Given the description of an element on the screen output the (x, y) to click on. 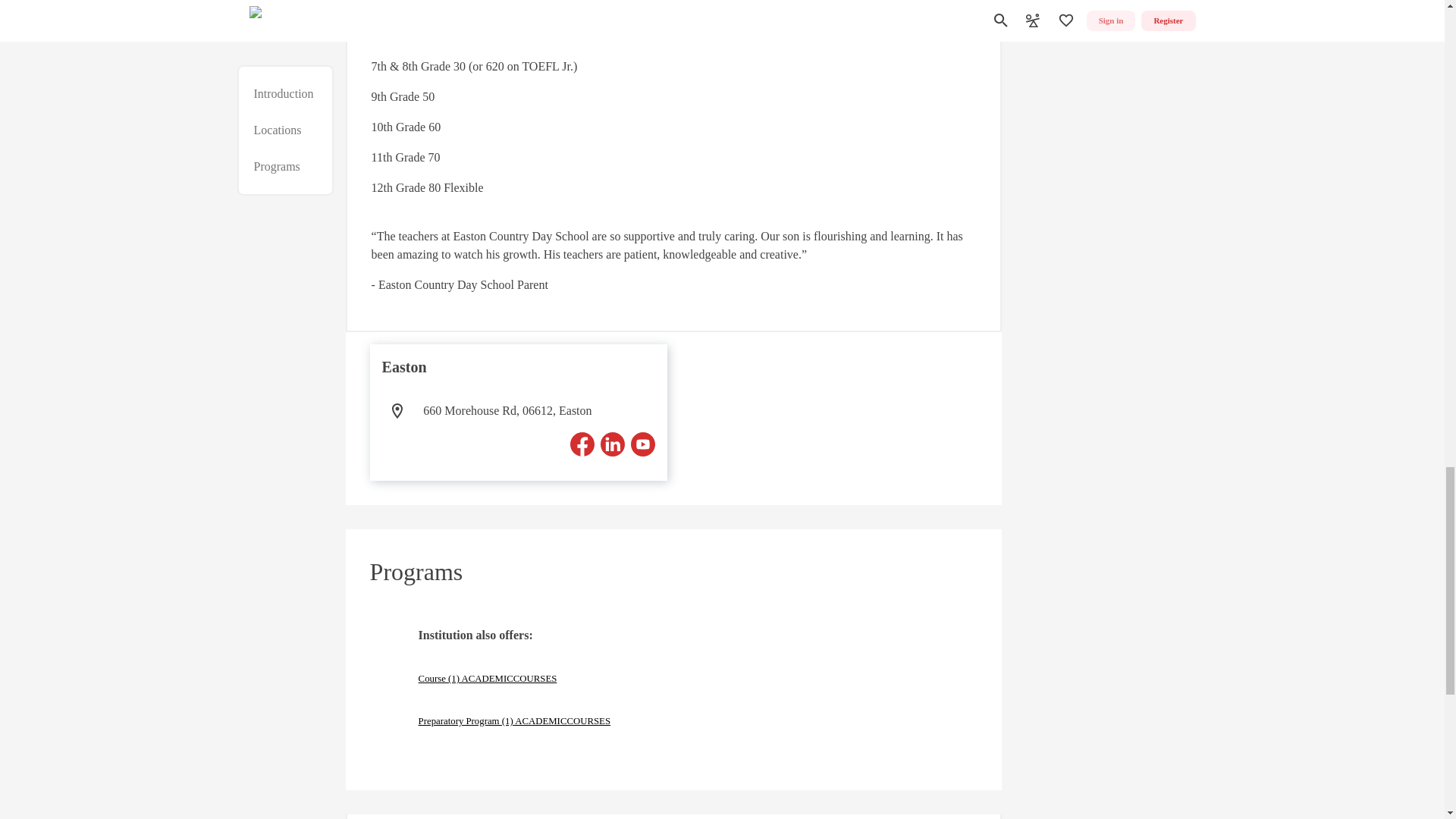
facebook (582, 444)
youtube (642, 444)
linkedin (611, 444)
